Given the description of an element on the screen output the (x, y) to click on. 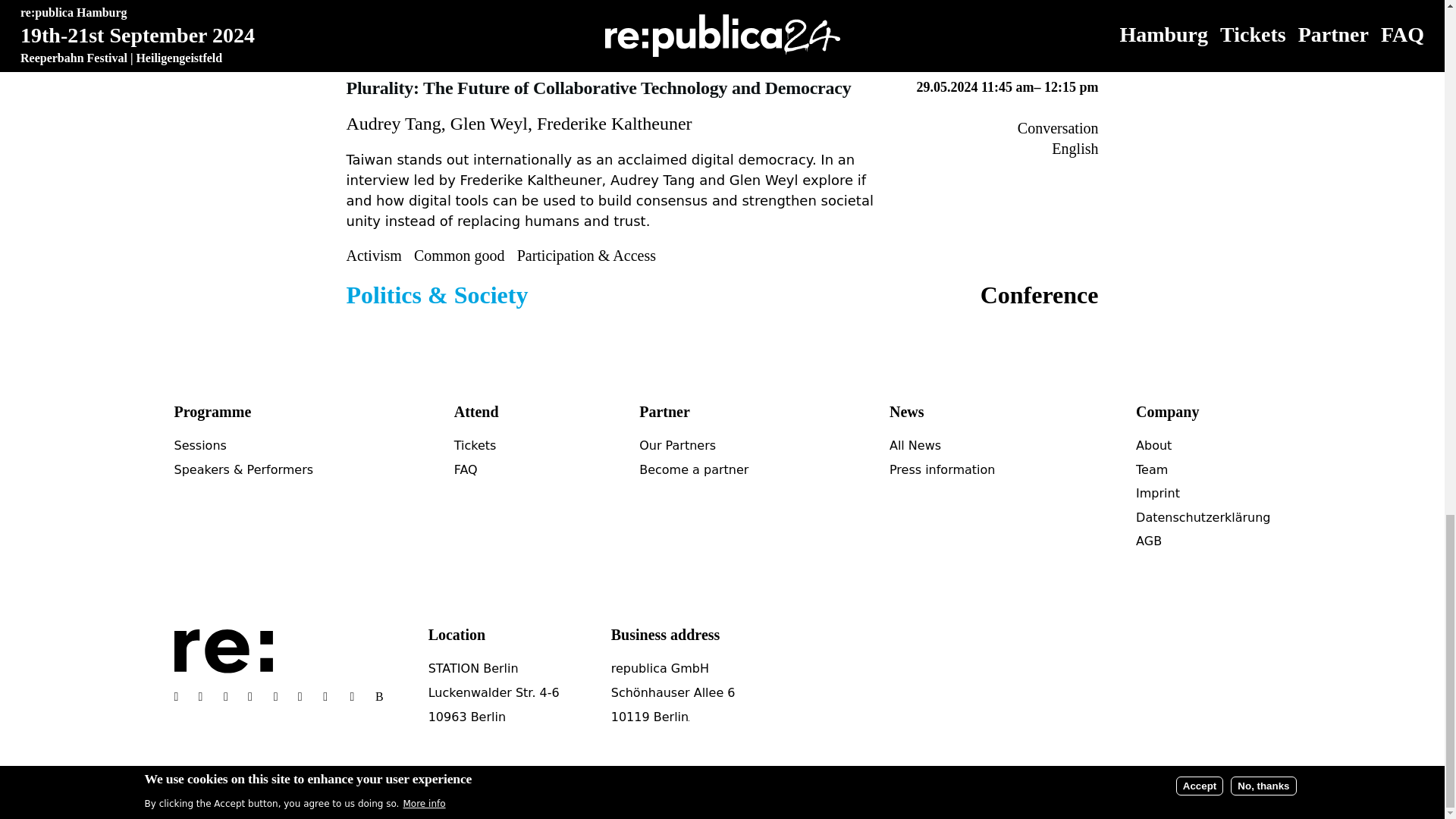
Our Partners (677, 445)
Sessions (200, 445)
Imprint (1157, 493)
About (1153, 445)
Press information (942, 469)
AGB (1148, 540)
All News (914, 445)
Audrey Tang (393, 123)
Glen Weyl (488, 123)
